Given the description of an element on the screen output the (x, y) to click on. 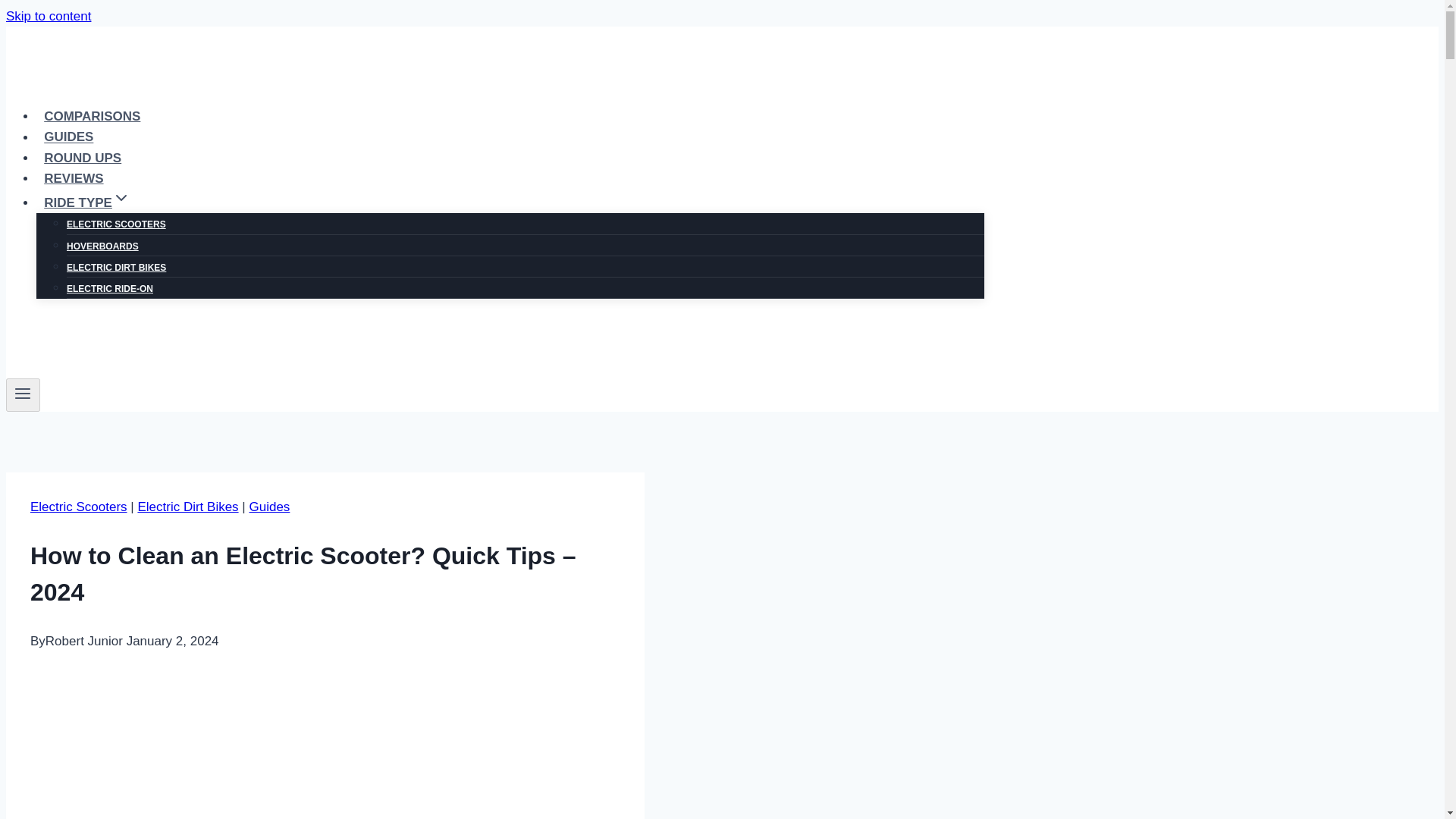
COMPARISONS (92, 116)
ROUND UPS (82, 157)
Toggle Menu (22, 394)
Skip to content (47, 16)
RIDE TYPEEXPAND (87, 202)
Guides (268, 506)
ELECTRIC SCOOTERS (115, 224)
Toggle Menu (22, 393)
REVIEWS (74, 178)
EXPAND (121, 198)
Electric Dirt Bikes (187, 506)
ELECTRIC DIRT BIKES (115, 267)
HOVERBOARDS (102, 246)
Skip to content (47, 16)
Electric Scooters (79, 506)
